Given the description of an element on the screen output the (x, y) to click on. 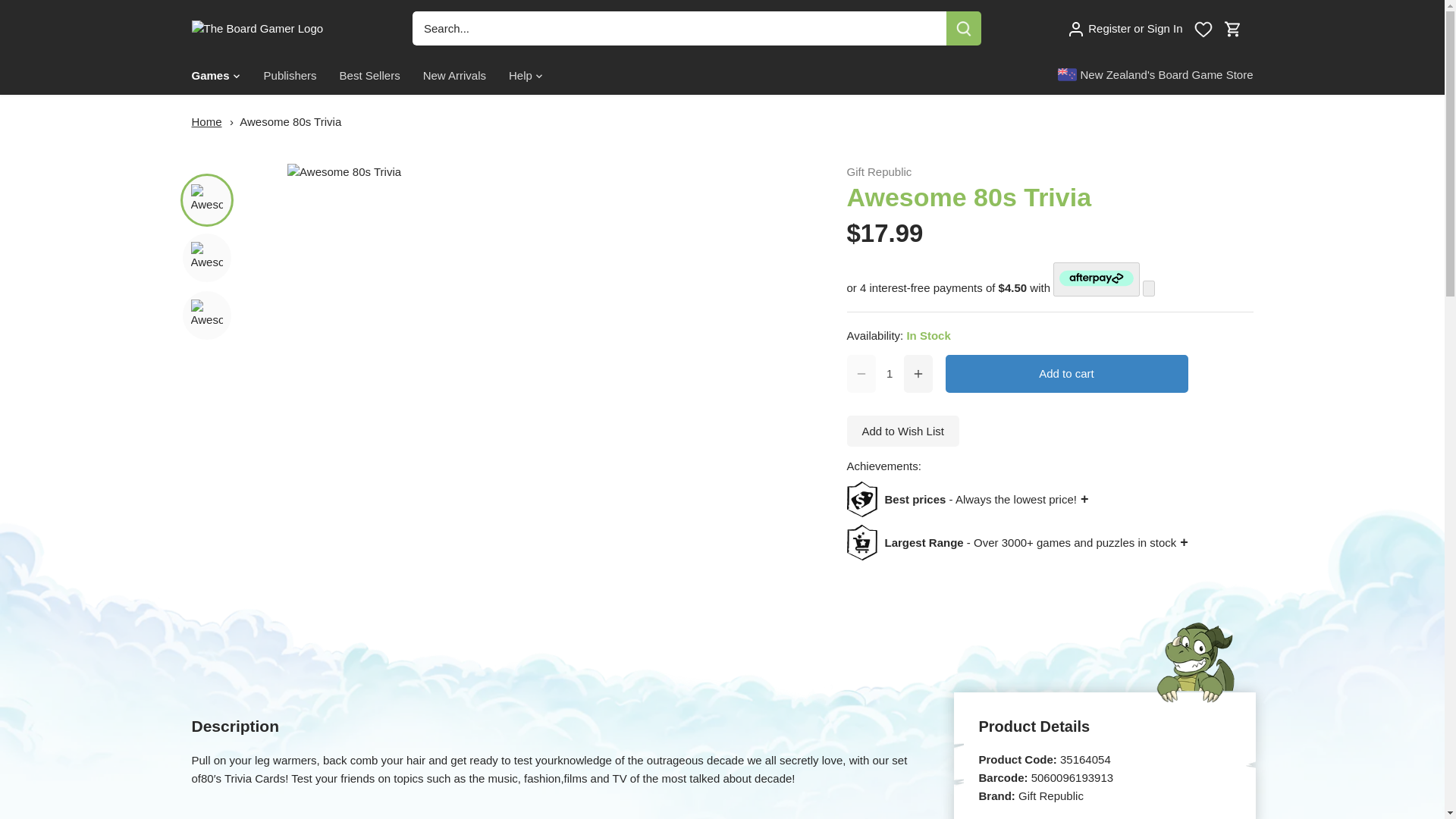
Help (520, 75)
Home (205, 121)
Home (205, 121)
New Arrivals (454, 75)
Awesome 80s Trivia (290, 121)
Games (215, 75)
Register or Sign In (1124, 28)
Best Sellers (370, 75)
Publishers (290, 75)
Gift Republic (878, 171)
